Given the description of an element on the screen output the (x, y) to click on. 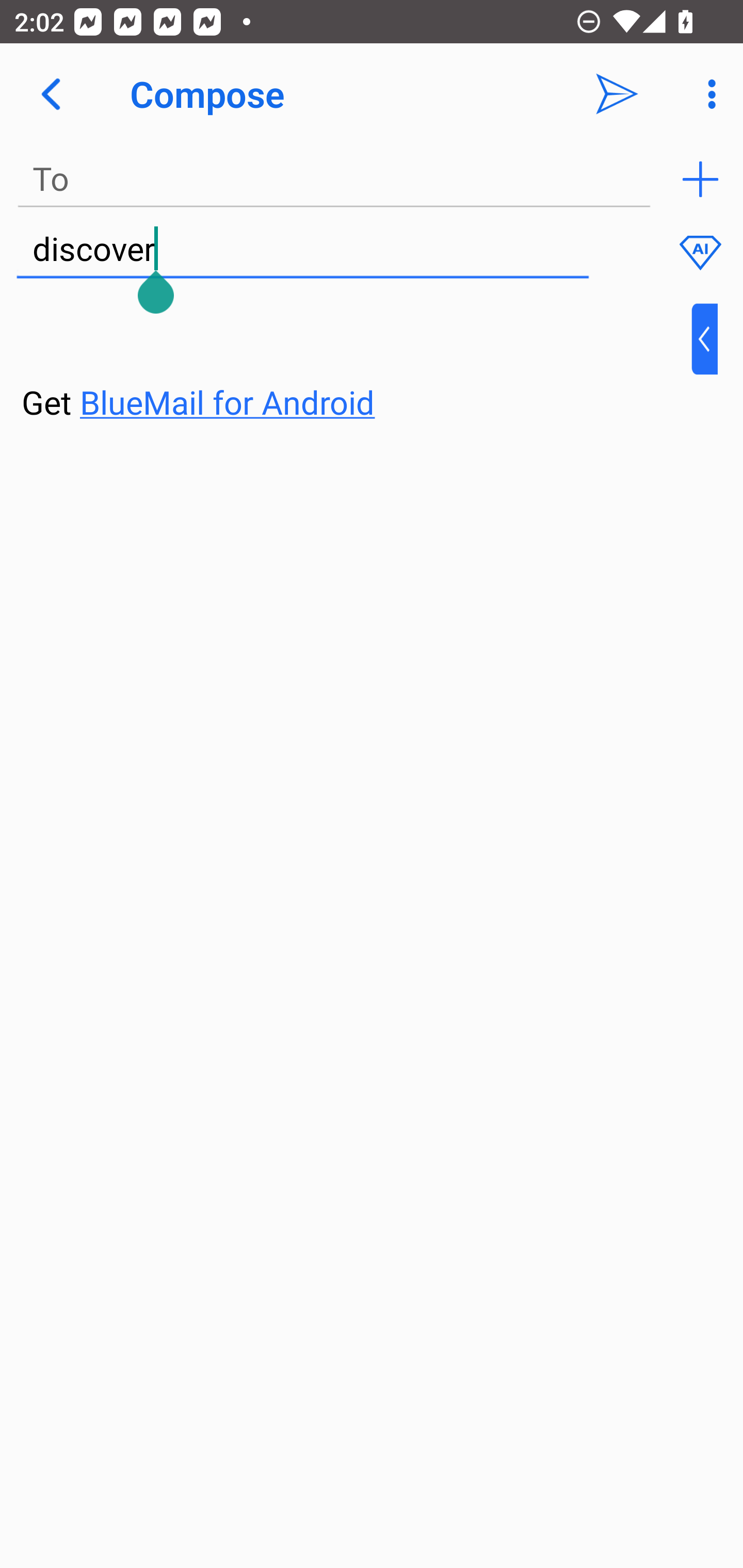
Navigate up (50, 93)
Send (616, 93)
More Options (706, 93)
To (334, 179)
Add recipient (To) (699, 179)
discover (302, 249)


⁣Get BlueMail for Android ​ (355, 363)
